Given the description of an element on the screen output the (x, y) to click on. 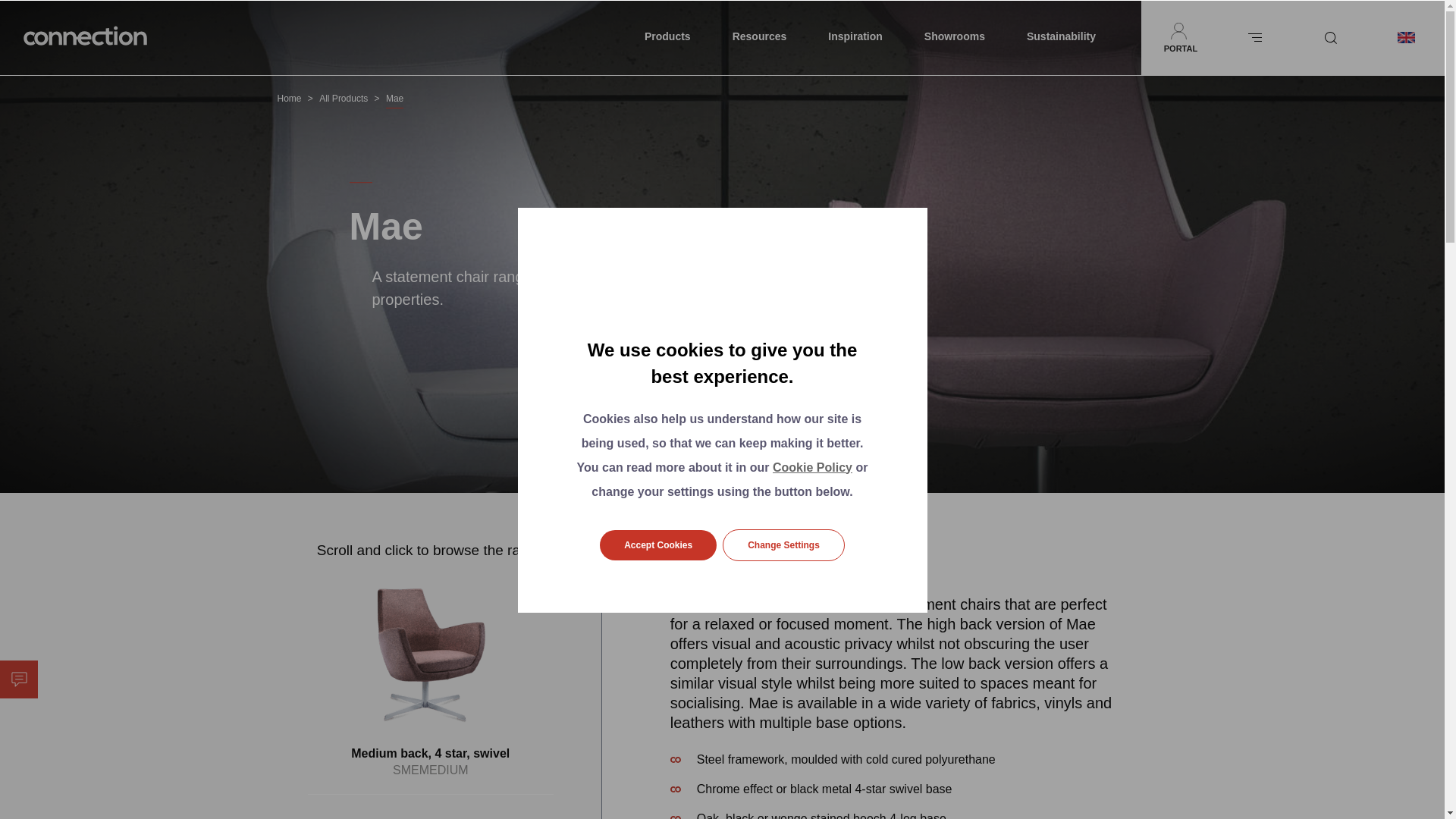
Sustainability (1061, 38)
Inspiration (855, 38)
PORTAL (1179, 37)
Resources (759, 38)
Showrooms (954, 38)
Products (667, 38)
